Given the description of an element on the screen output the (x, y) to click on. 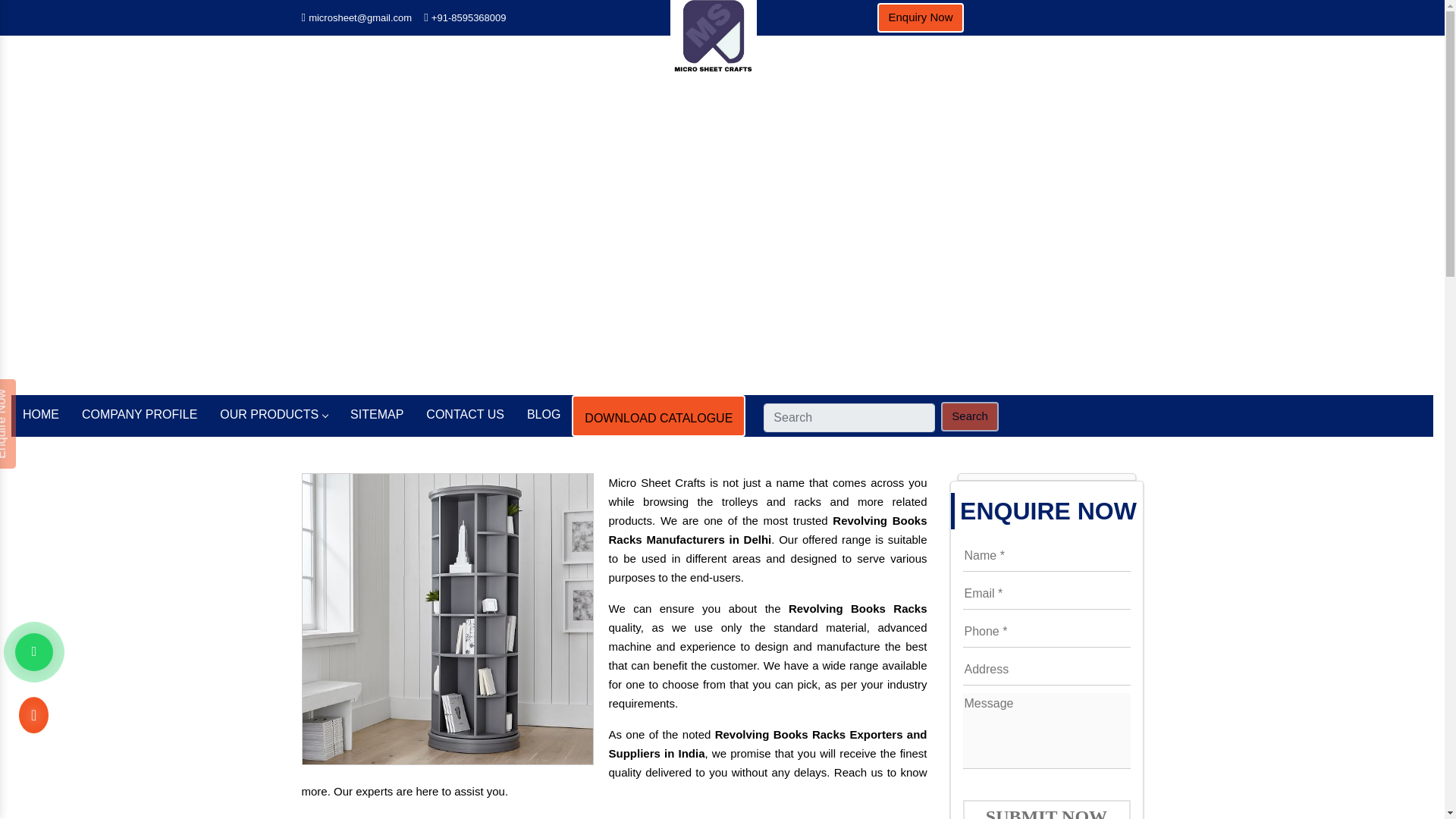
Book Rack (716, 233)
Home (579, 233)
Our Products (273, 414)
HOME (40, 414)
Book Rack (716, 233)
Company Profile (138, 414)
COMPANY PROFILE (138, 414)
OUR PRODUCTS (273, 414)
8595368009 (468, 17)
Home (40, 414)
Our Products (640, 233)
Home (579, 233)
Enquiry Now (919, 17)
Enquiry Now (919, 17)
Our Products (640, 233)
